Given the description of an element on the screen output the (x, y) to click on. 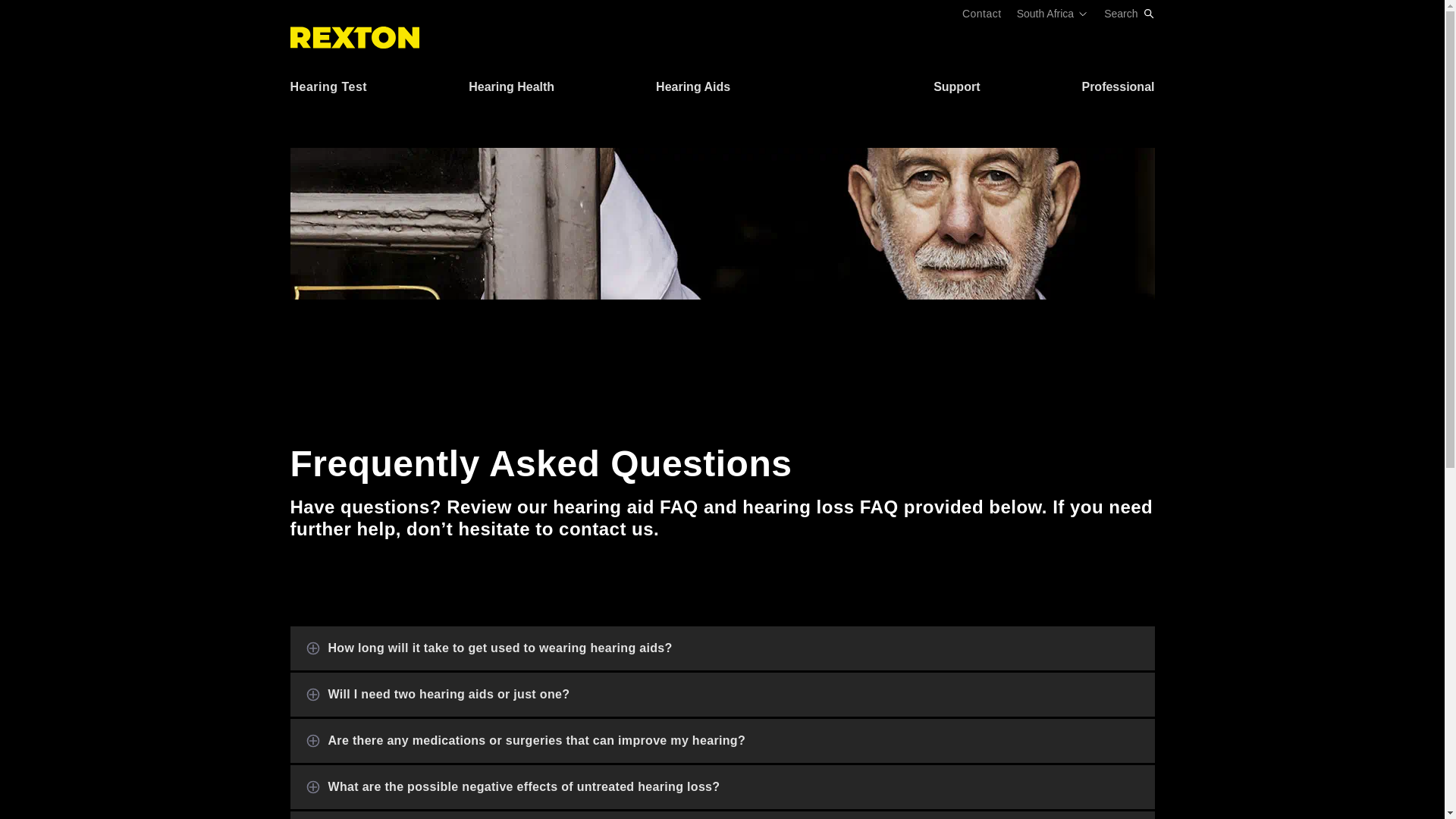
South Africa (1052, 13)
Hearing Health (511, 91)
Hearing Aids (692, 91)
Hearing Test (328, 91)
Contact (981, 13)
Search (1128, 13)
